Given the description of an element on the screen output the (x, y) to click on. 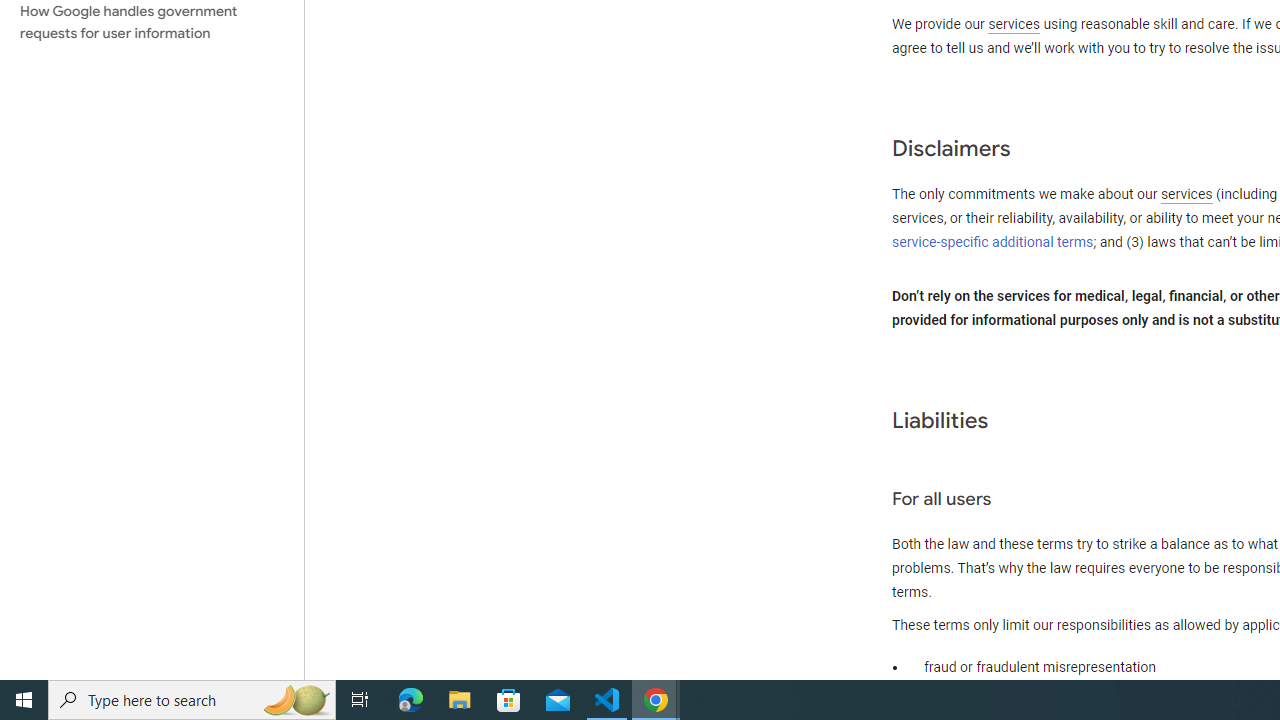
service-specific additional terms (993, 242)
services (1186, 195)
